Given the description of an element on the screen output the (x, y) to click on. 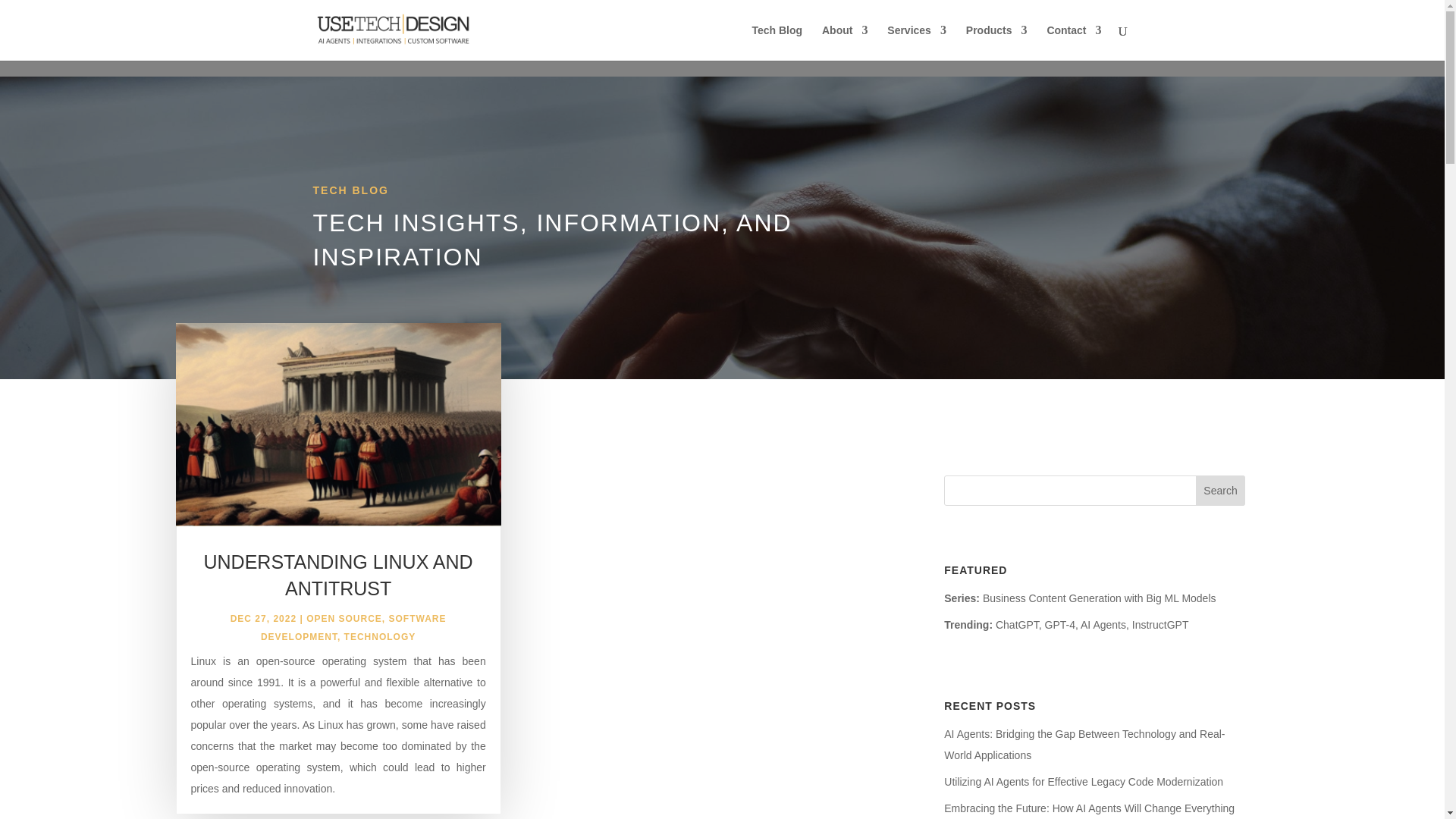
Learn more about UseTech Design (844, 42)
Search (1220, 490)
Services (916, 42)
Contact (1073, 42)
Tech Blog (776, 42)
Insights, Information, and Inspiration (776, 42)
Products (996, 42)
About (844, 42)
